Given the description of an element on the screen output the (x, y) to click on. 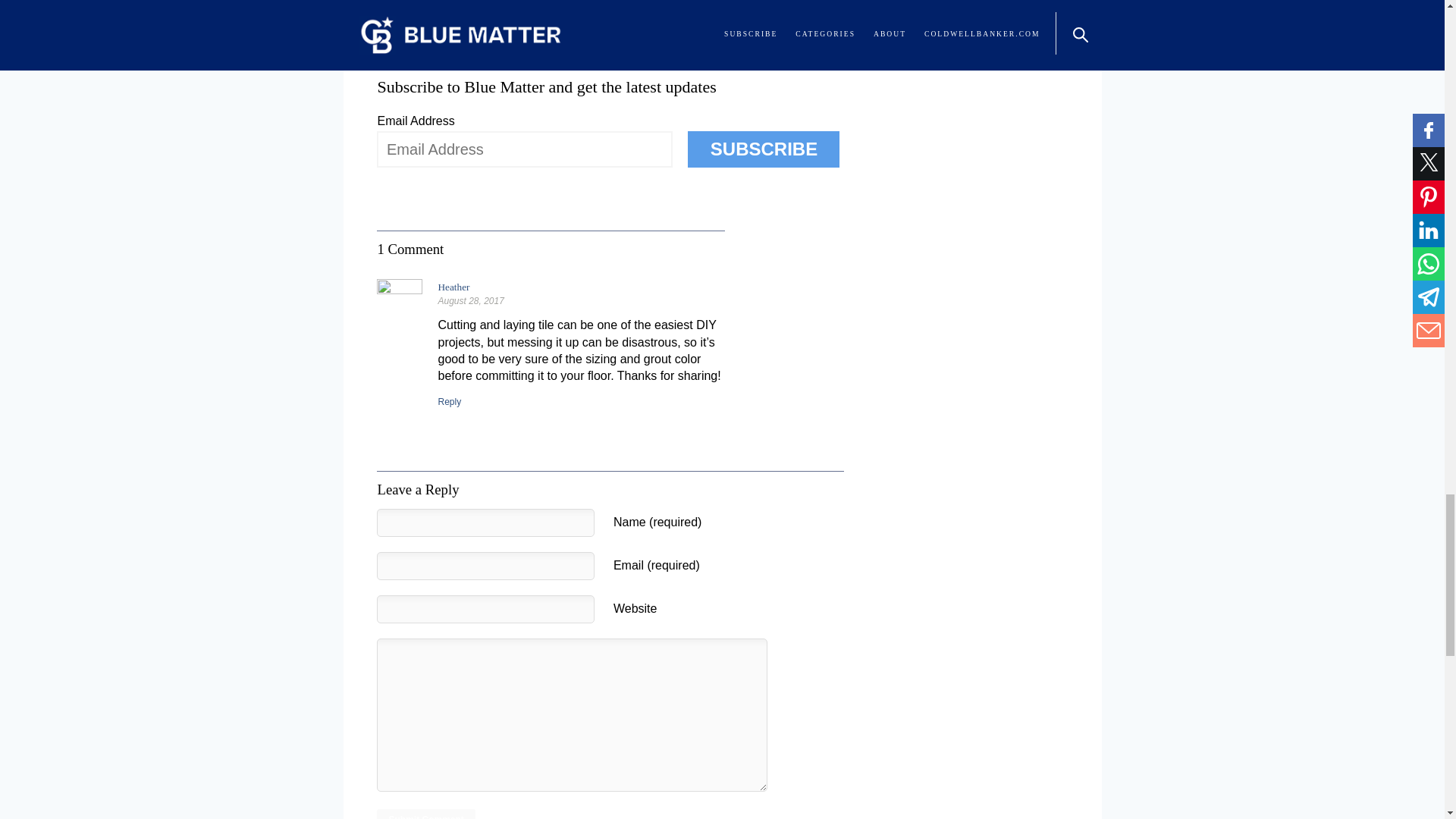
Heather (453, 286)
SUBSCRIBE (763, 149)
Submit Comment (425, 814)
Reply (449, 401)
Submit Comment (425, 814)
